Given the description of an element on the screen output the (x, y) to click on. 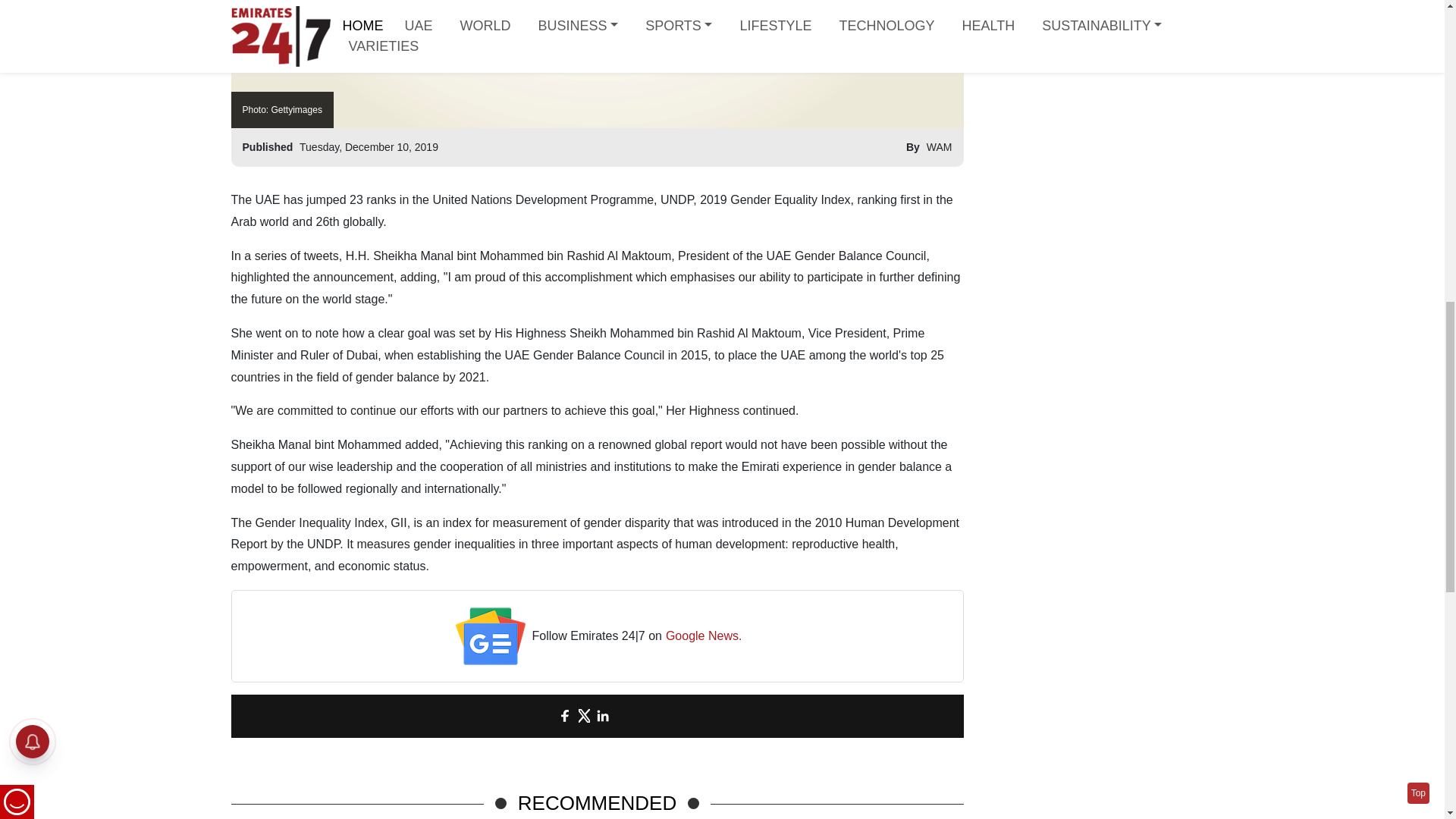
Google News. (703, 636)
